Given the description of an element on the screen output the (x, y) to click on. 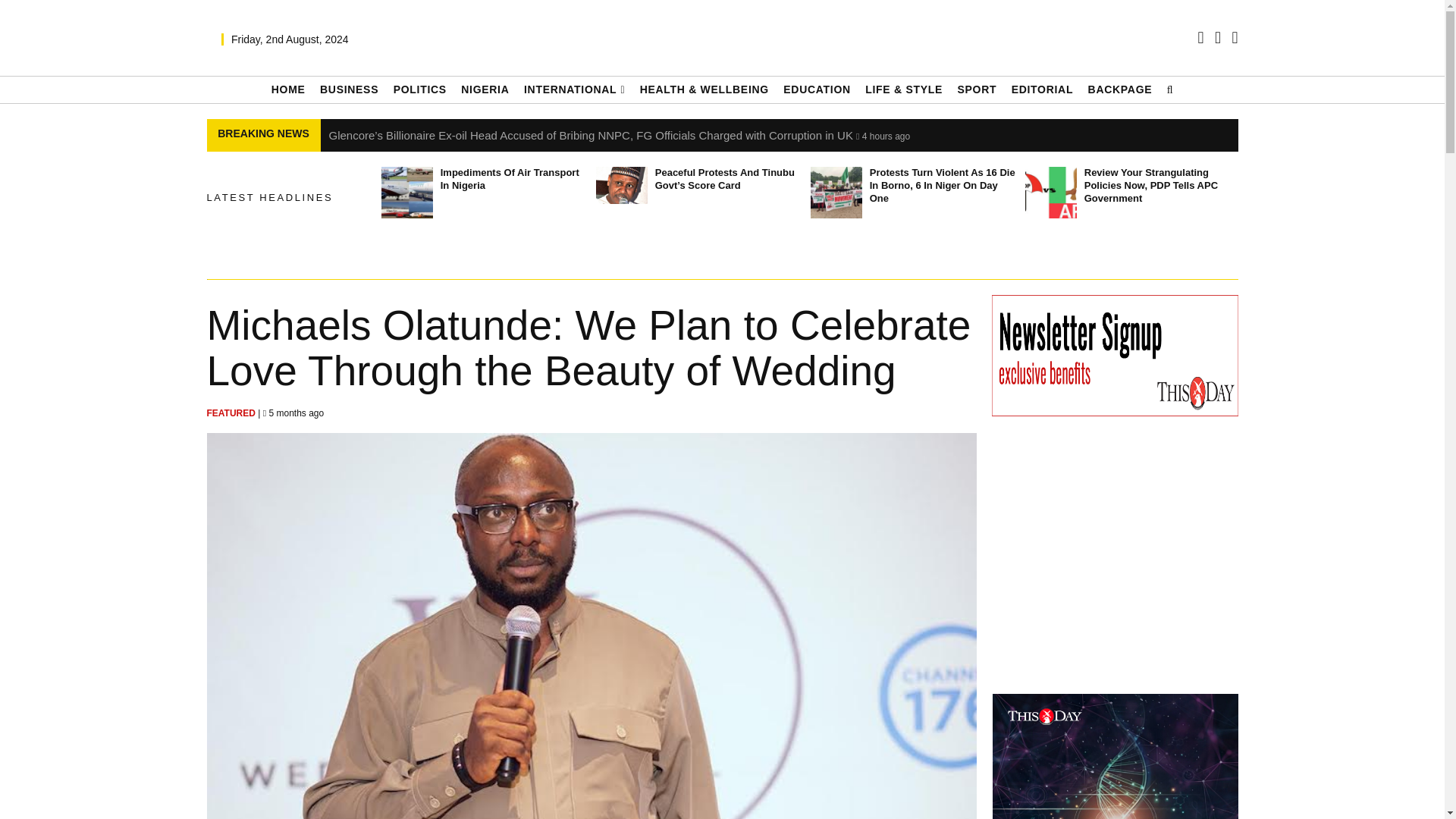
BUSINESS (349, 89)
EDITORIAL (1042, 89)
POLITICS (419, 89)
Impediments of Air Transport in Nigeria (406, 192)
EDUCATION (816, 89)
SPORT (975, 89)
NIGERIA (484, 89)
INTERNATIONAL (574, 89)
HOME (287, 89)
